Given the description of an element on the screen output the (x, y) to click on. 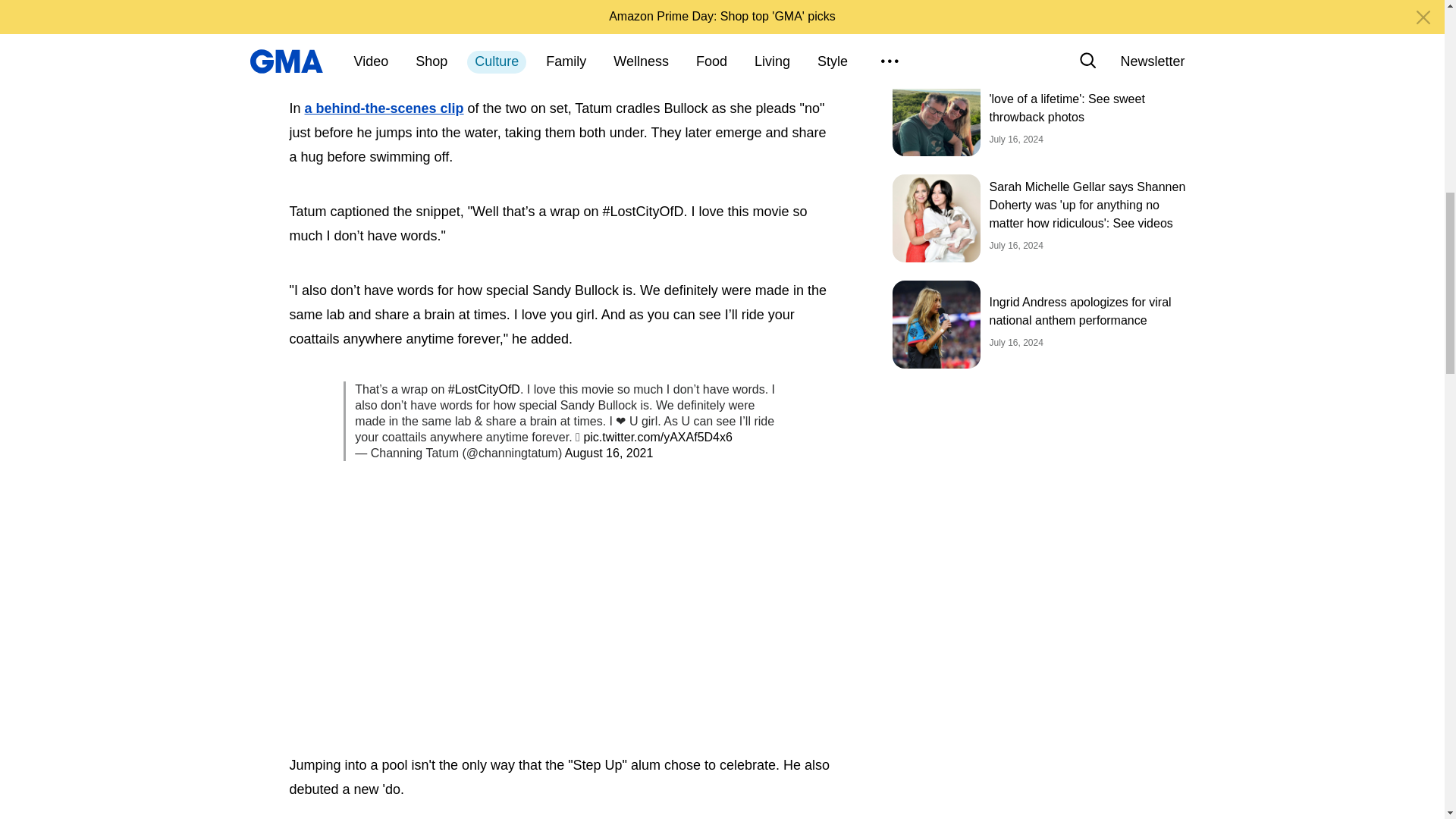
a behind-the-scenes clip (384, 108)
